Given the description of an element on the screen output the (x, y) to click on. 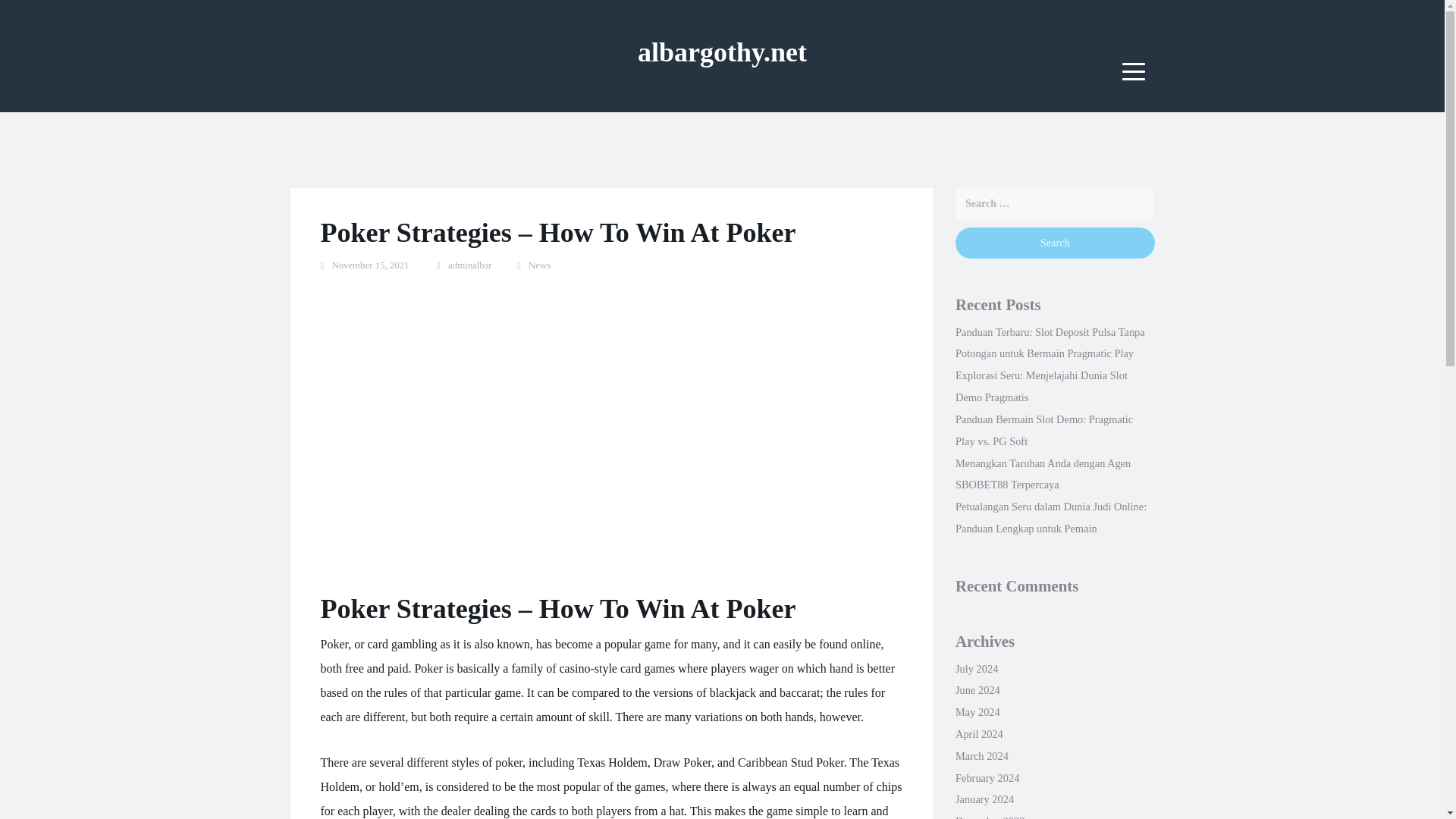
Search (1054, 242)
News (539, 265)
February 2024 (987, 777)
adminalbar (470, 265)
Panduan Bermain Slot Demo: Pragmatic Play vs. PG Soft (1043, 430)
April 2024 (979, 734)
Menangkan Taruhan Anda dengan Agen SBOBET88 Terpercaya (1043, 474)
Menu (1133, 71)
albargothy.net (721, 51)
December 2023 (990, 816)
November 15, 2021 (370, 265)
May 2024 (977, 711)
Explorasi Seru: Menjelajahi Dunia Slot Demo Pragmatis (1040, 386)
Search (1054, 242)
Search (1054, 242)
